Given the description of an element on the screen output the (x, y) to click on. 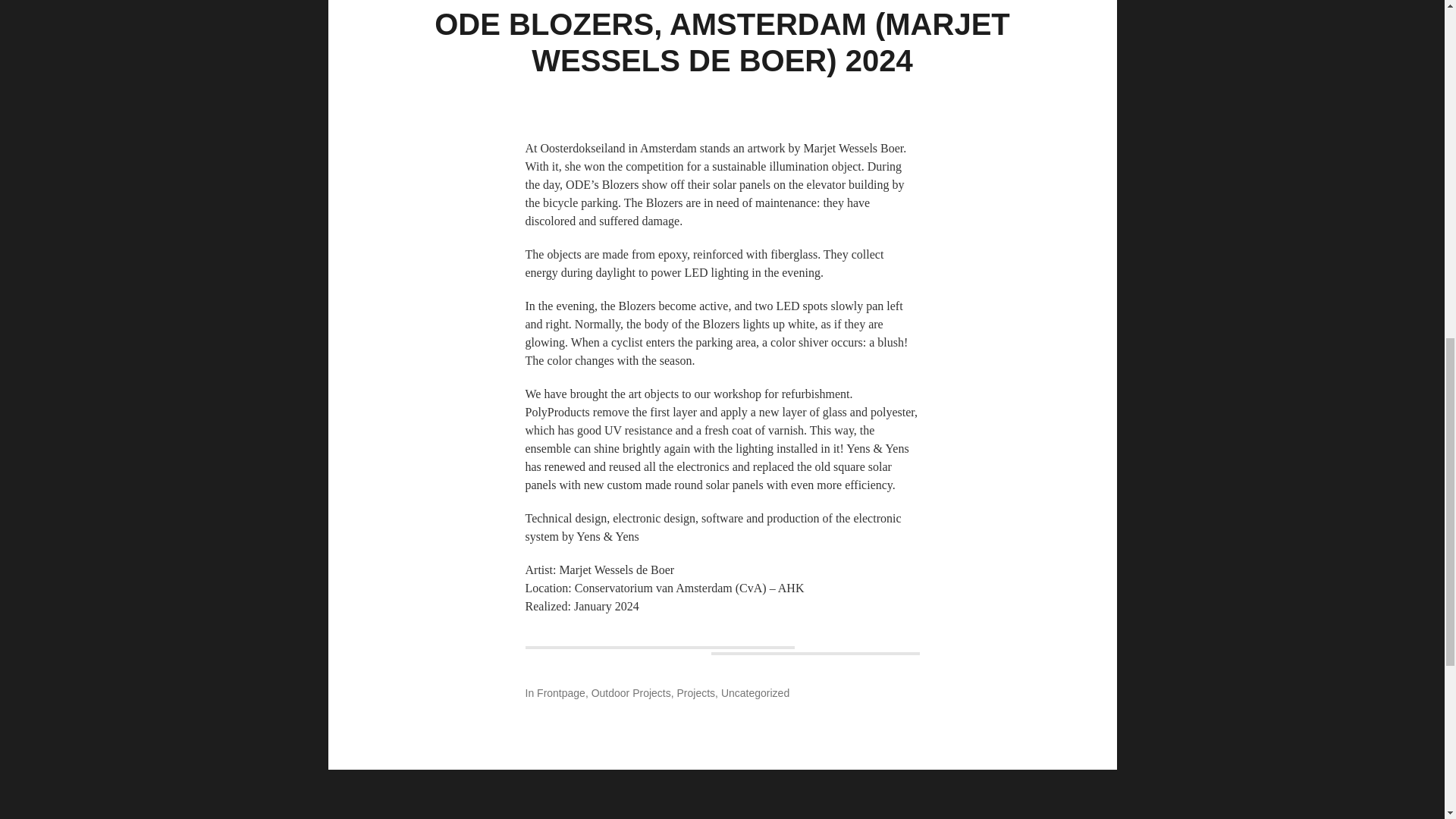
Uncategorized (754, 693)
Outdoor Projects (631, 693)
Frontpage (561, 693)
Projects (696, 693)
